Given the description of an element on the screen output the (x, y) to click on. 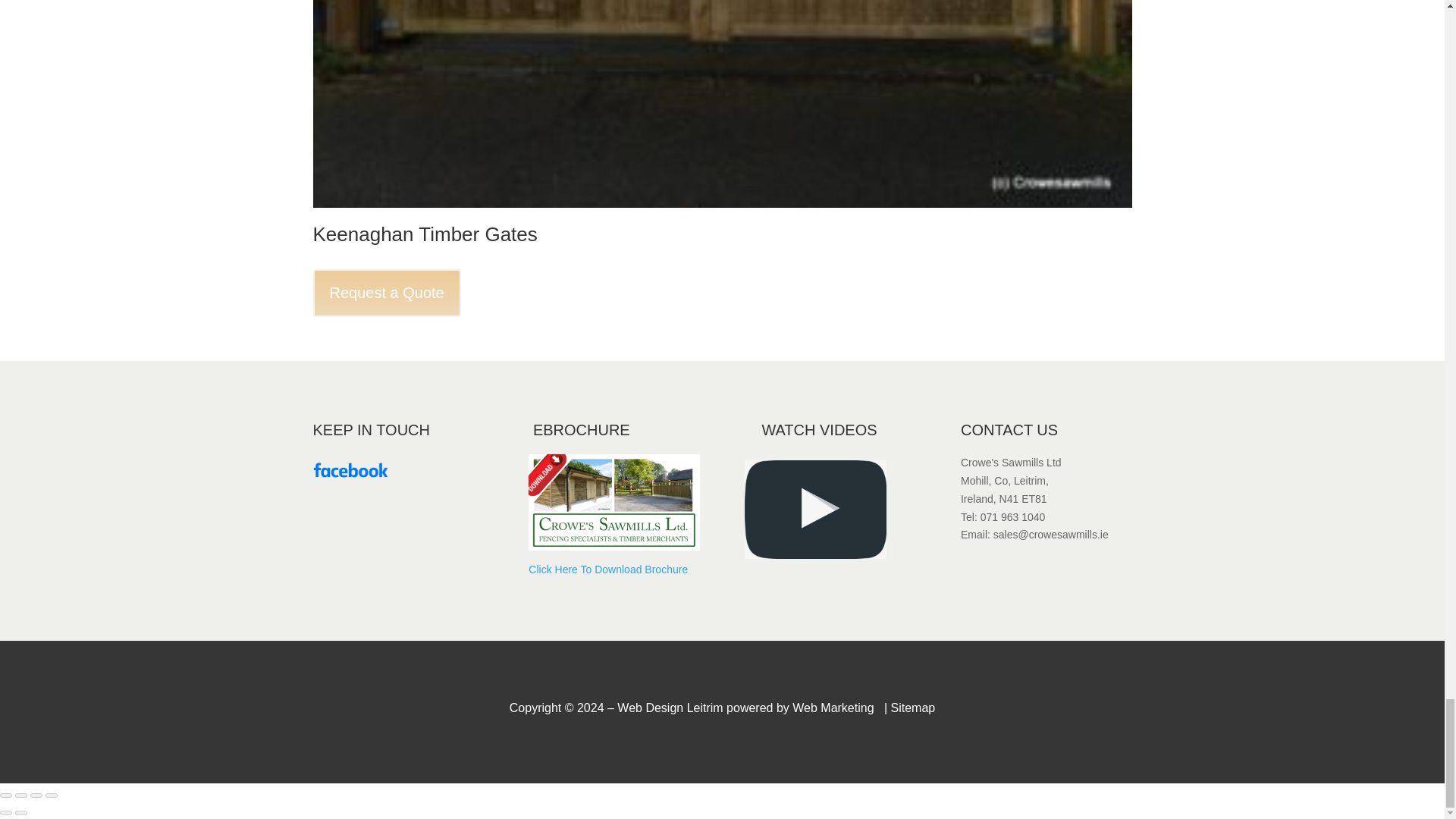
video icon (814, 508)
brochure-download (613, 502)
twitter (350, 469)
